Given the description of an element on the screen output the (x, y) to click on. 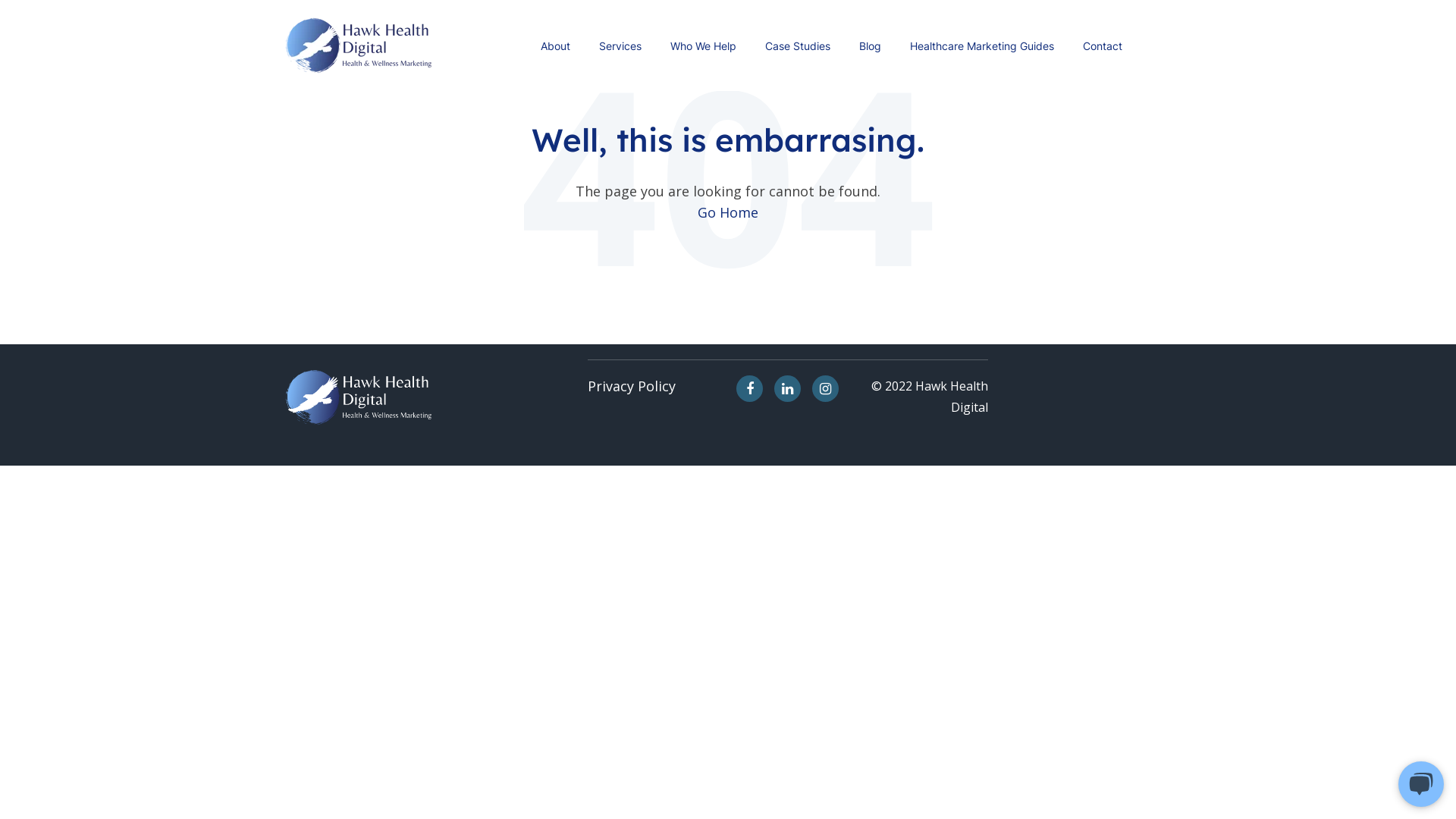
Contact Element type: text (1102, 45)
Services Element type: text (620, 45)
Blog Element type: text (870, 45)
Health Hawk Digital_Horizontal (3) Element type: hover (360, 45)
Go Home Element type: text (727, 212)
Case Studies Element type: text (797, 45)
Healthcare Marketing Guides Element type: text (982, 45)
Privacy Policy Element type: text (631, 385)
Who We Help Element type: text (703, 45)
About Element type: text (555, 45)
